Given the description of an element on the screen output the (x, y) to click on. 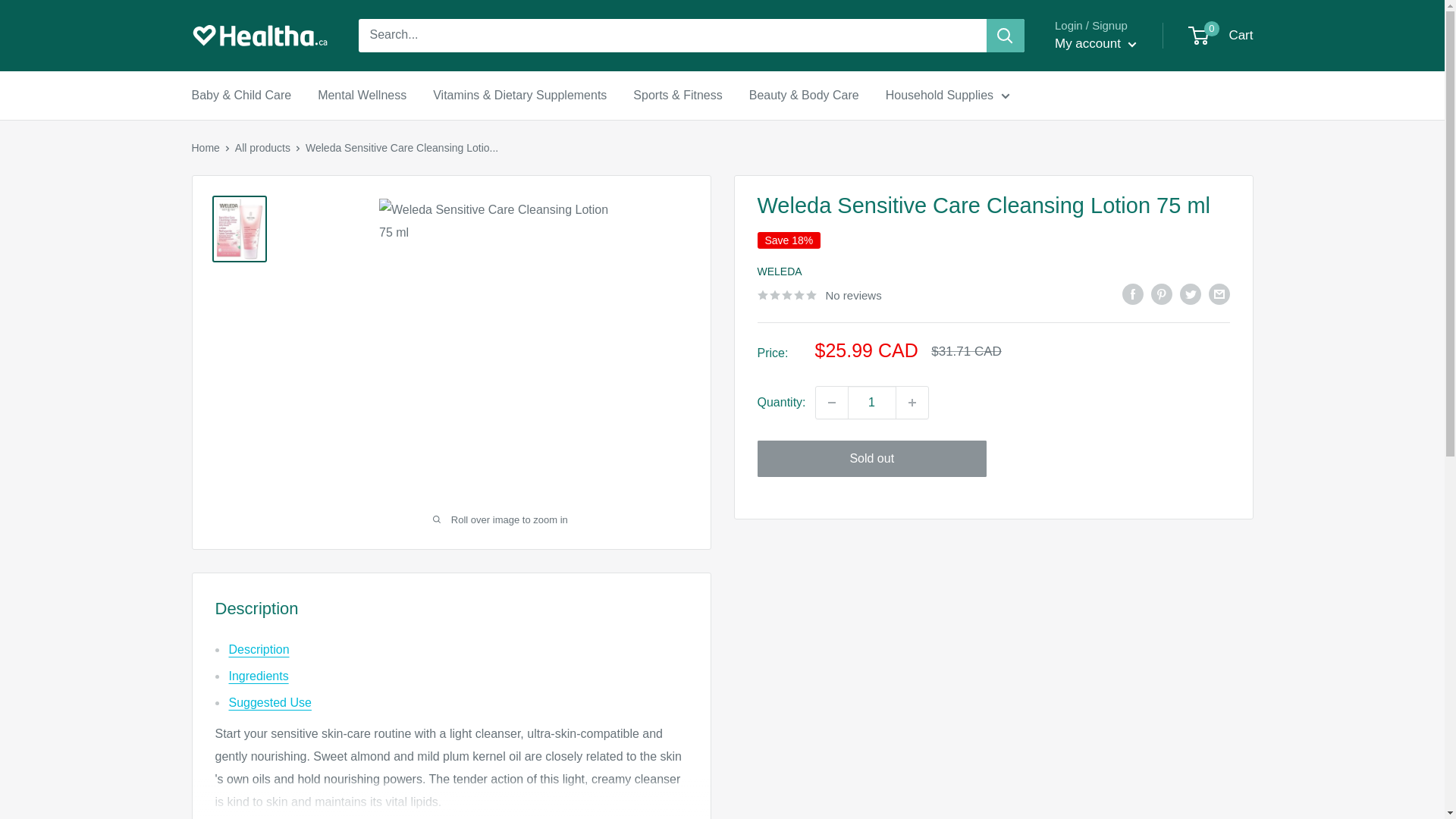
No reviews (818, 294)
Household Supplies (947, 95)
Home (204, 147)
Decrease quantity by 1 (831, 402)
Increase quantity by 1 (1221, 35)
My account (912, 402)
1 (1095, 43)
Healtha.ca (871, 402)
All products (258, 35)
